Given the description of an element on the screen output the (x, y) to click on. 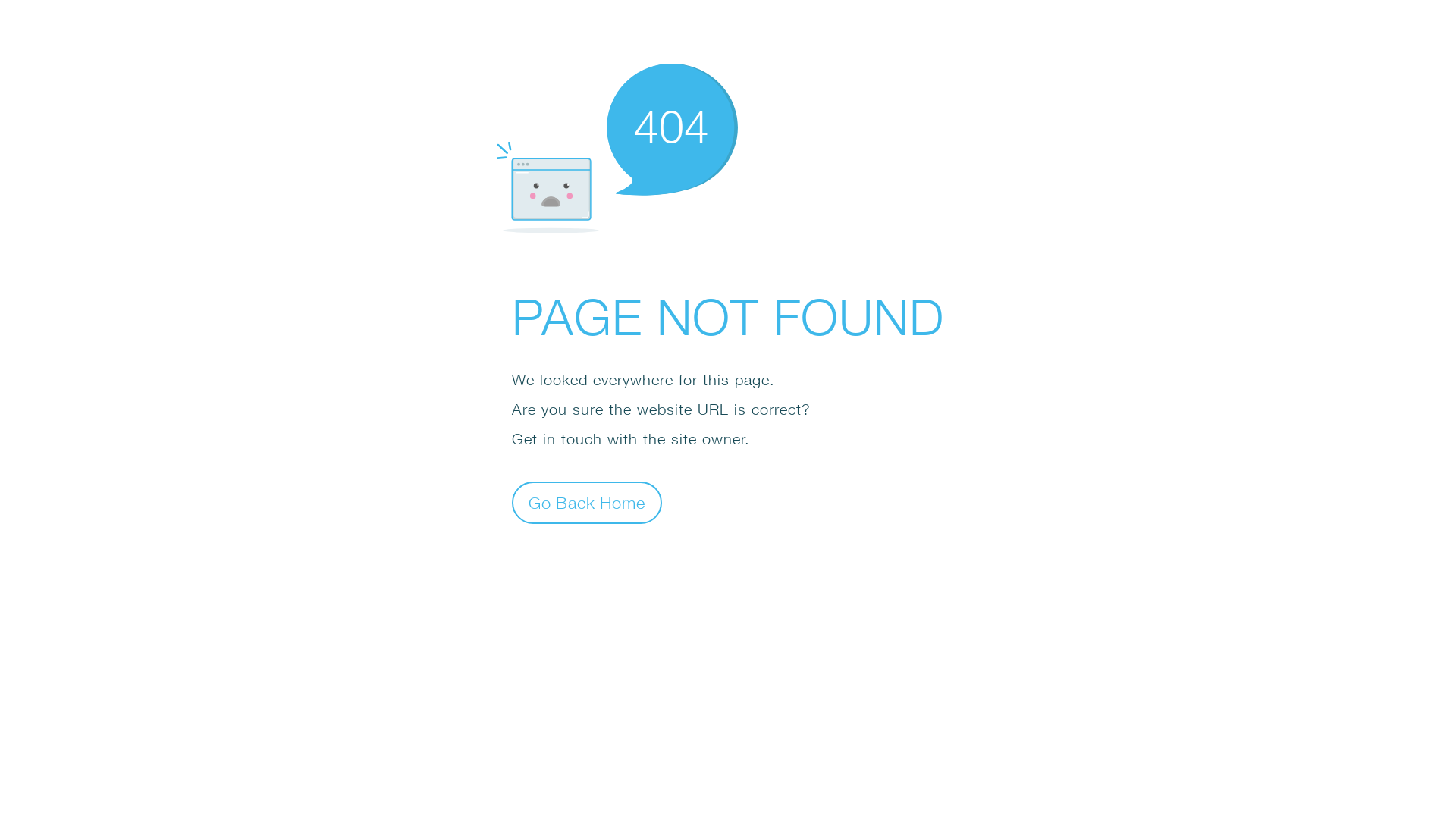
Go Back Home Element type: text (586, 502)
